Given the description of an element on the screen output the (x, y) to click on. 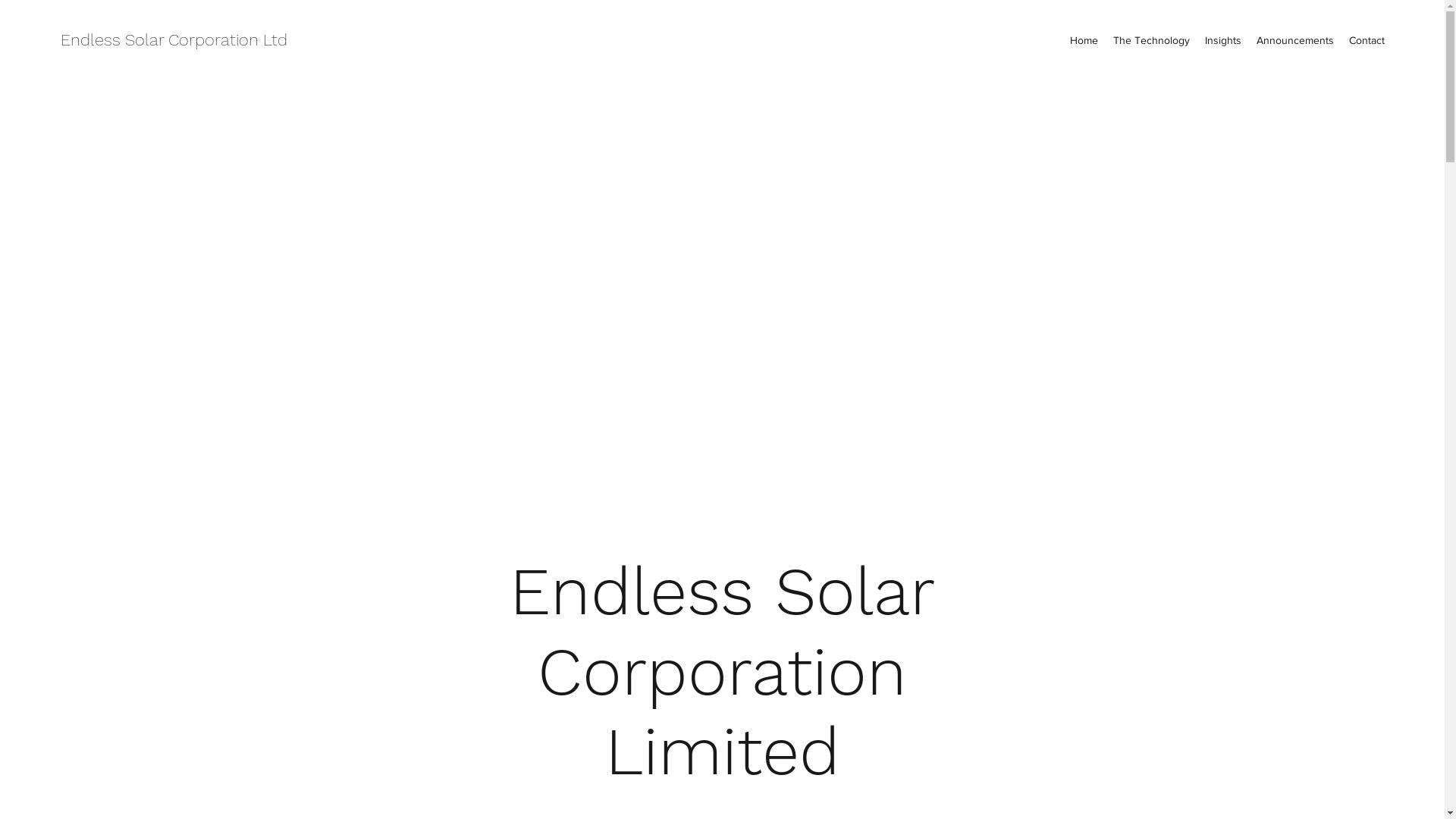
Contact Element type: text (1366, 39)
Home Element type: text (1083, 39)
The Technology Element type: text (1151, 39)
Announcements Element type: text (1294, 39)
Insights Element type: text (1222, 39)
Endless Solar Corporation Ltd Element type: text (173, 39)
